Given the description of an element on the screen output the (x, y) to click on. 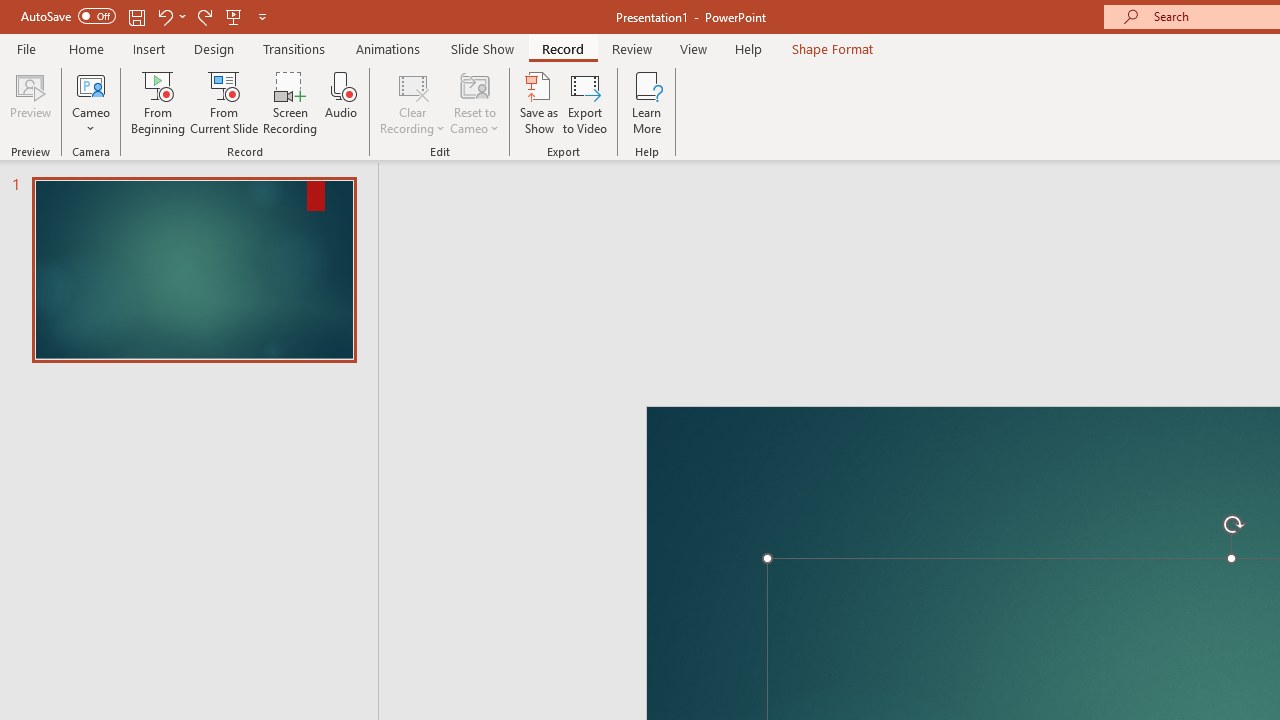
Review (631, 48)
Slide (194, 269)
Cameo (91, 102)
From Beginning... (158, 102)
Preview (30, 102)
Screen Recording (290, 102)
From Beginning (234, 15)
Export to Video (585, 102)
Design (214, 48)
From Current Slide... (224, 102)
